Given the description of an element on the screen output the (x, y) to click on. 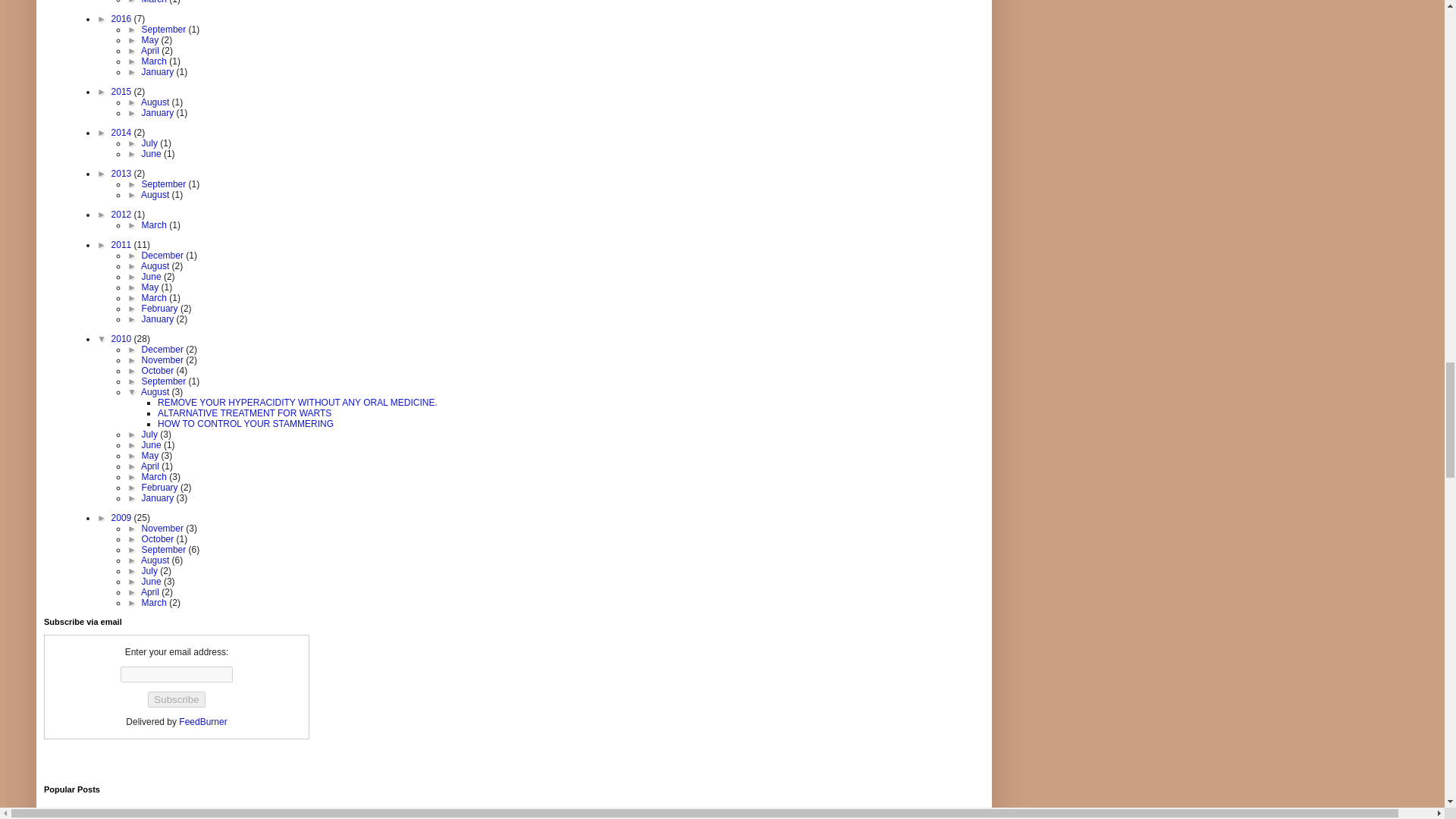
Subscribe (176, 699)
